Given the description of an element on the screen output the (x, y) to click on. 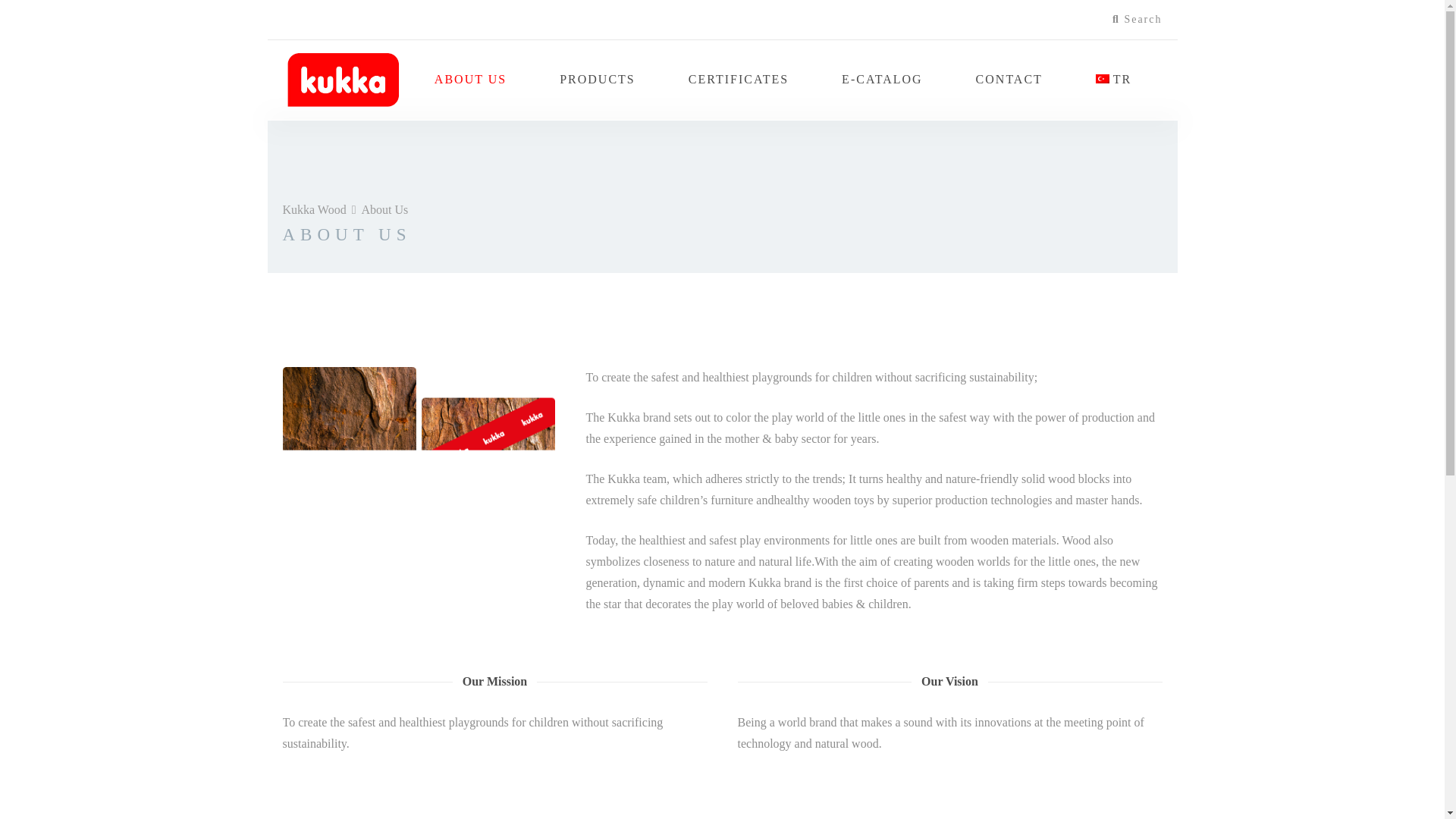
PRODUCTS (596, 79)
Kukka Wood (314, 209)
Go to Kukka Wood. (314, 209)
hakkimizda-2 (418, 472)
ABOUT US (469, 79)
CONTACT (1008, 79)
TR (1113, 79)
CERTIFICATES (738, 79)
E-CATALOG (881, 79)
TR (1113, 79)
Search (1136, 19)
Kukka Wood (342, 78)
